Given the description of an element on the screen output the (x, y) to click on. 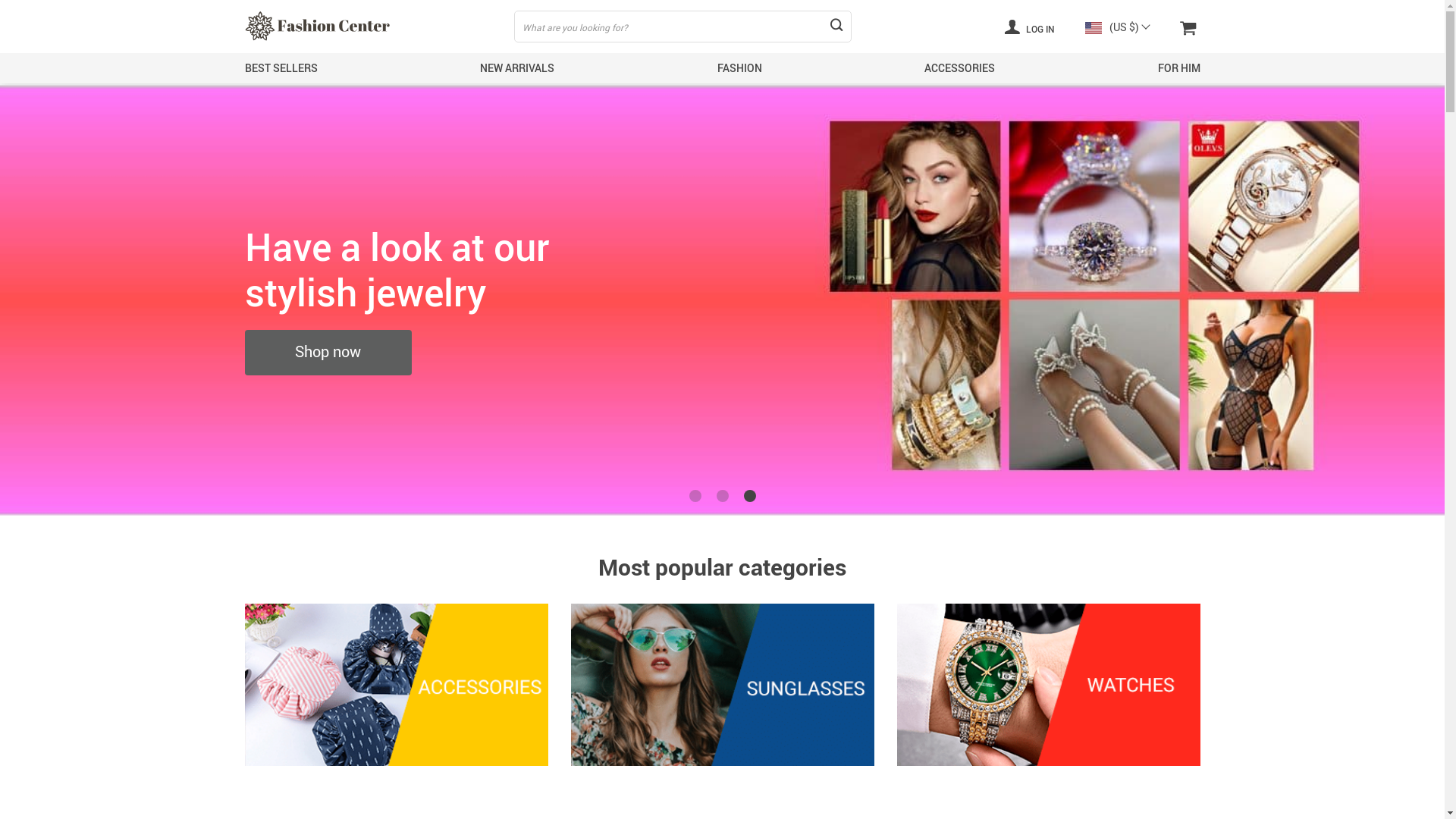
FASHION Element type: text (739, 67)
FOR HIM Element type: text (1178, 67)
BEST SELLERS Element type: text (280, 67)
Shop now Element type: text (391, 352)
NEW ARRIVALS Element type: text (517, 67)
LOG IN Element type: text (1029, 26)
Have a look at our stylish jewelry Element type: text (575, 268)
ACCESSORIES Element type: text (959, 67)
